Given the description of an element on the screen output the (x, y) to click on. 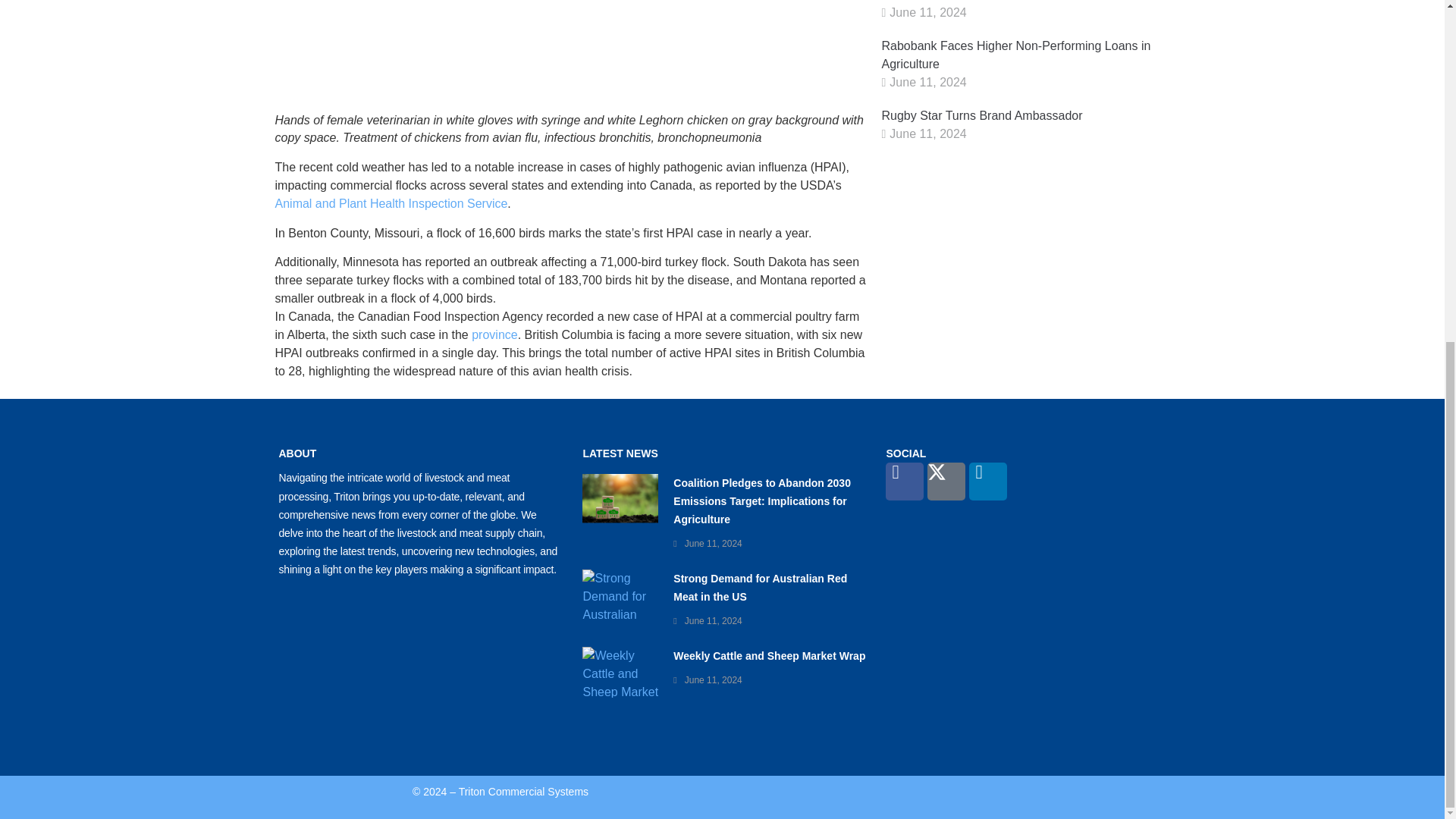
June 11, 2024 (713, 543)
Strong Demand for Australian Red Meat in the US (759, 587)
Animal and Plant Health Inspection Service (390, 203)
June 11, 2024 (927, 11)
June 11, 2024 (927, 82)
Rugby Star Turns Brand Ambassador (980, 115)
June 11, 2024 (927, 133)
province (493, 334)
June 11, 2024 (713, 620)
